Given the description of an element on the screen output the (x, y) to click on. 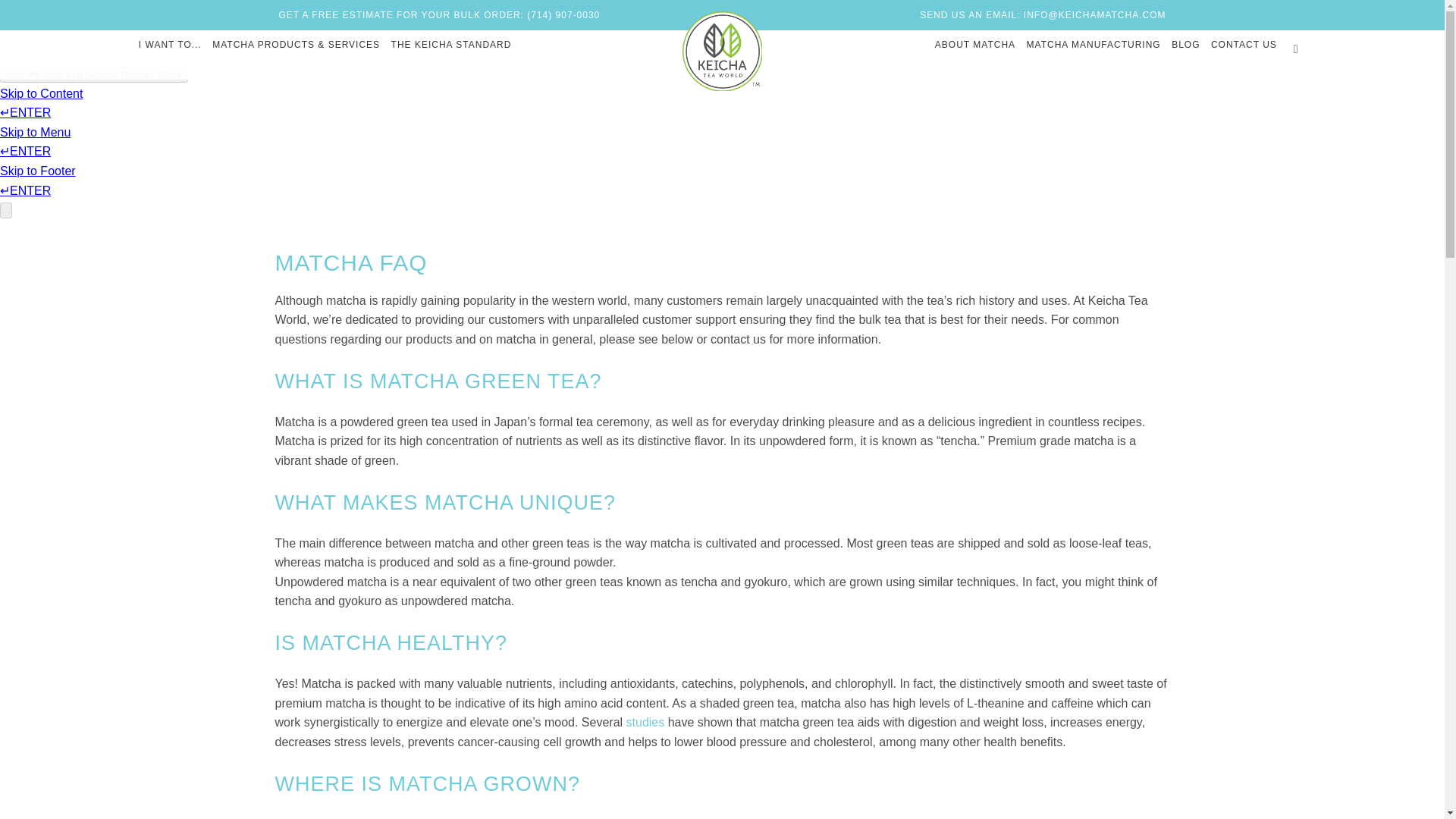
Keicha Tea World (721, 51)
Search (1295, 48)
I WANT TO... (170, 45)
